Given the description of an element on the screen output the (x, y) to click on. 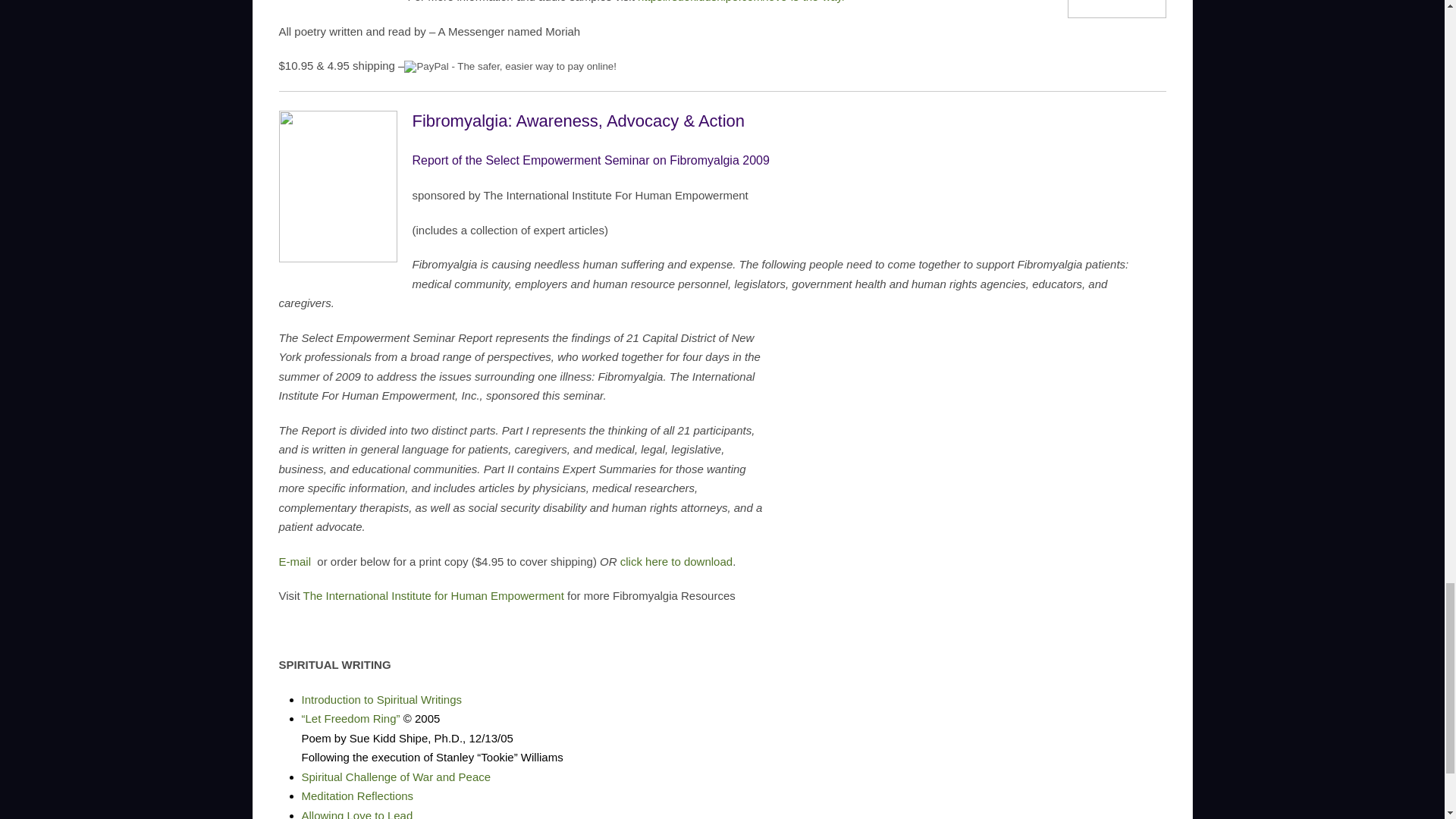
Spiritual Challenge of War and Peace (396, 776)
Introduction to Spiritual Writings (382, 698)
Let Freedom Ring (350, 717)
E-mail (295, 561)
click here to download (676, 561)
Meditation Reflections (357, 795)
Meditation Reflections (357, 795)
Allowing Love to Lead (357, 814)
Allowing Love to Lead (357, 814)
Spiritual Challenge of War and Peace (396, 776)
The International Institute for Human Empowerment (432, 594)
